Given the description of an element on the screen output the (x, y) to click on. 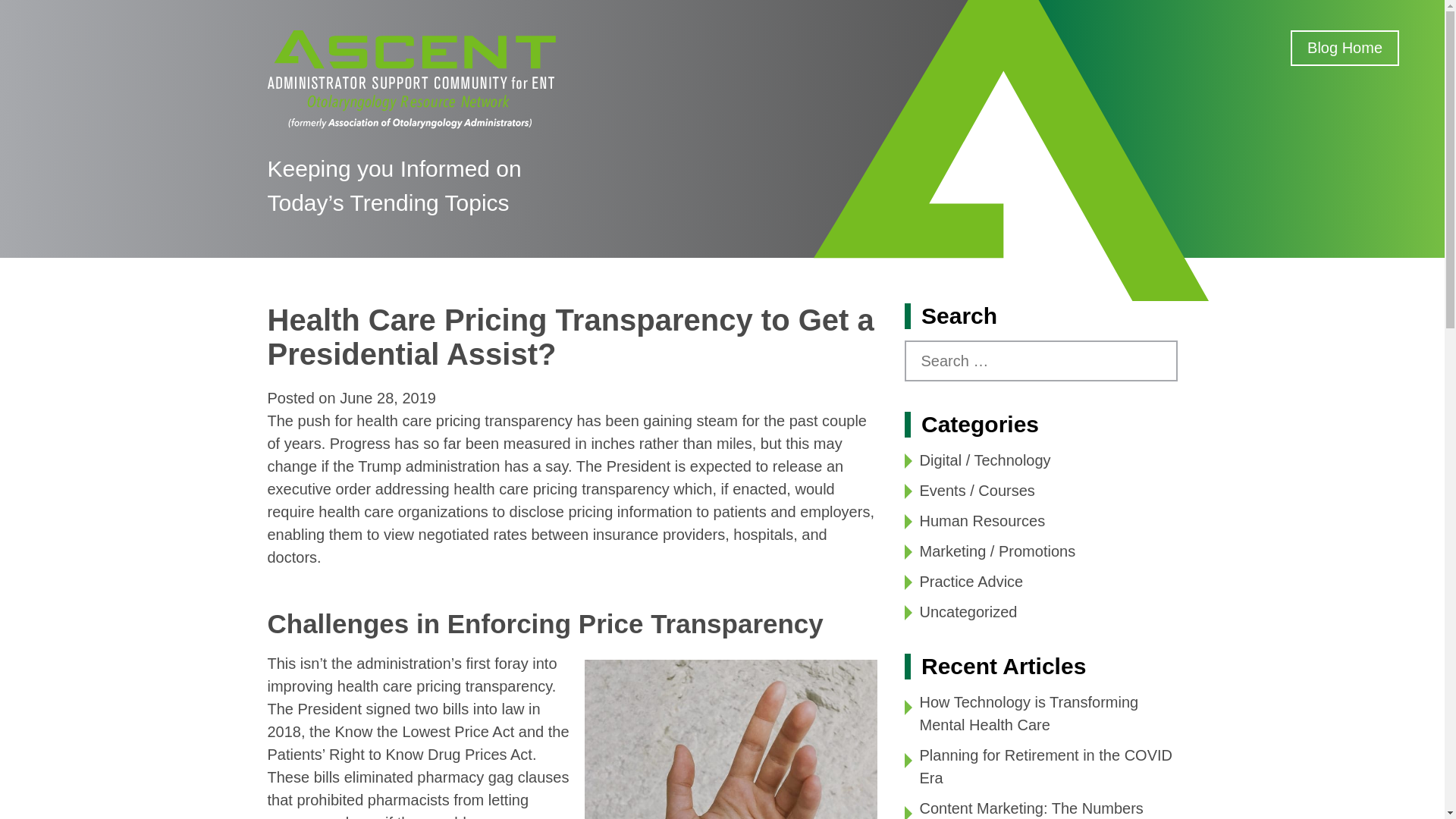
Content Marketing: The Numbers Speak for Themselves (1030, 809)
How Technology is Transforming Mental Health Care (1028, 713)
Blog Home (1344, 48)
Human Resources (981, 520)
Uncategorized (967, 611)
Search (24, 11)
ASCENT: Administrator Support Community for ENT (410, 77)
Planning for Retirement in the COVID Era (1045, 766)
Practice Advice (970, 581)
